Given the description of an element on the screen output the (x, y) to click on. 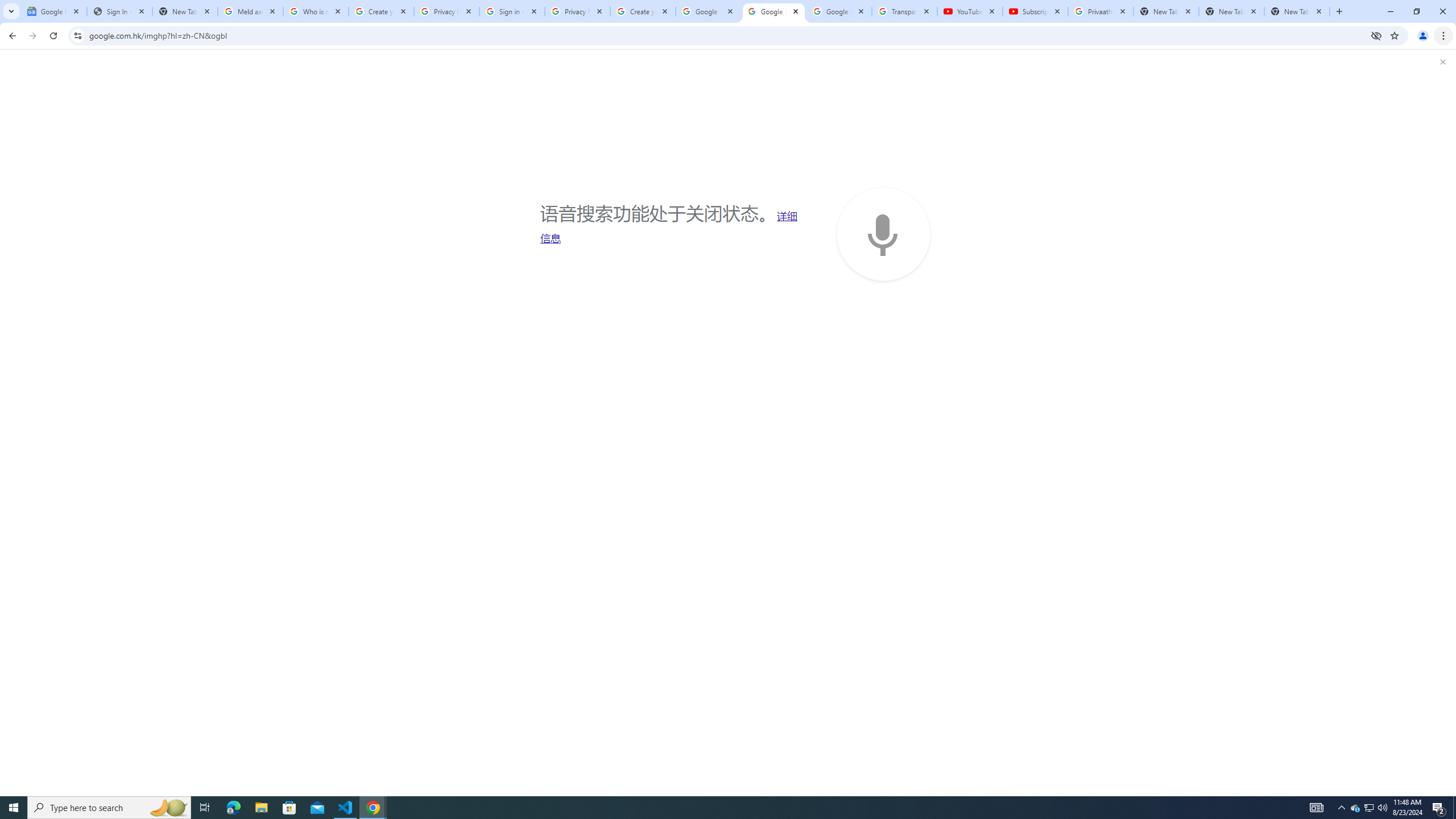
Create your Google Account (643, 11)
Sign In - USA TODAY (119, 11)
YouTube (969, 11)
Google Account (838, 11)
Subscriptions - YouTube (1035, 11)
